Given the description of an element on the screen output the (x, y) to click on. 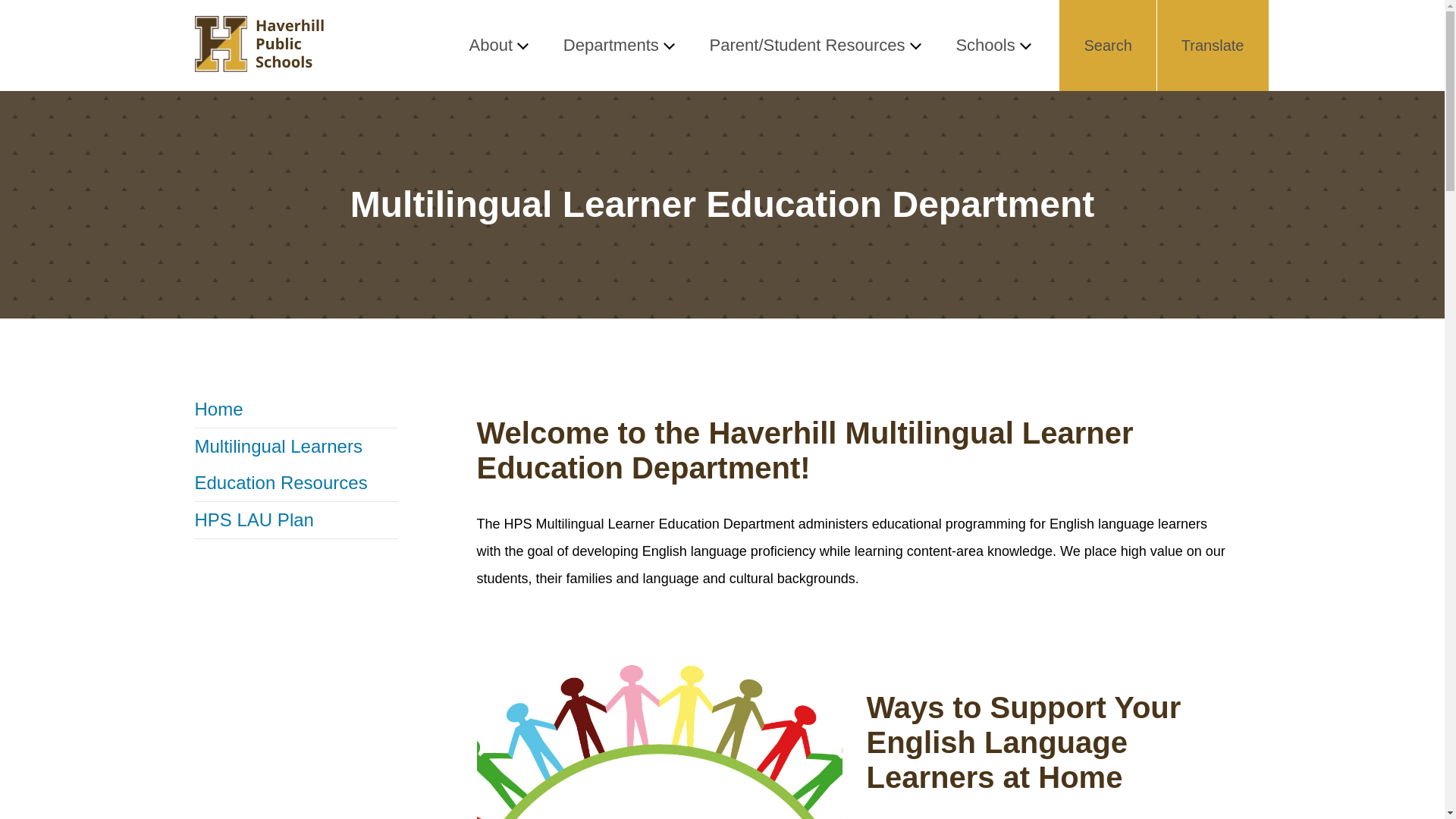
Departments (617, 45)
About (497, 45)
